Given the description of an element on the screen output the (x, y) to click on. 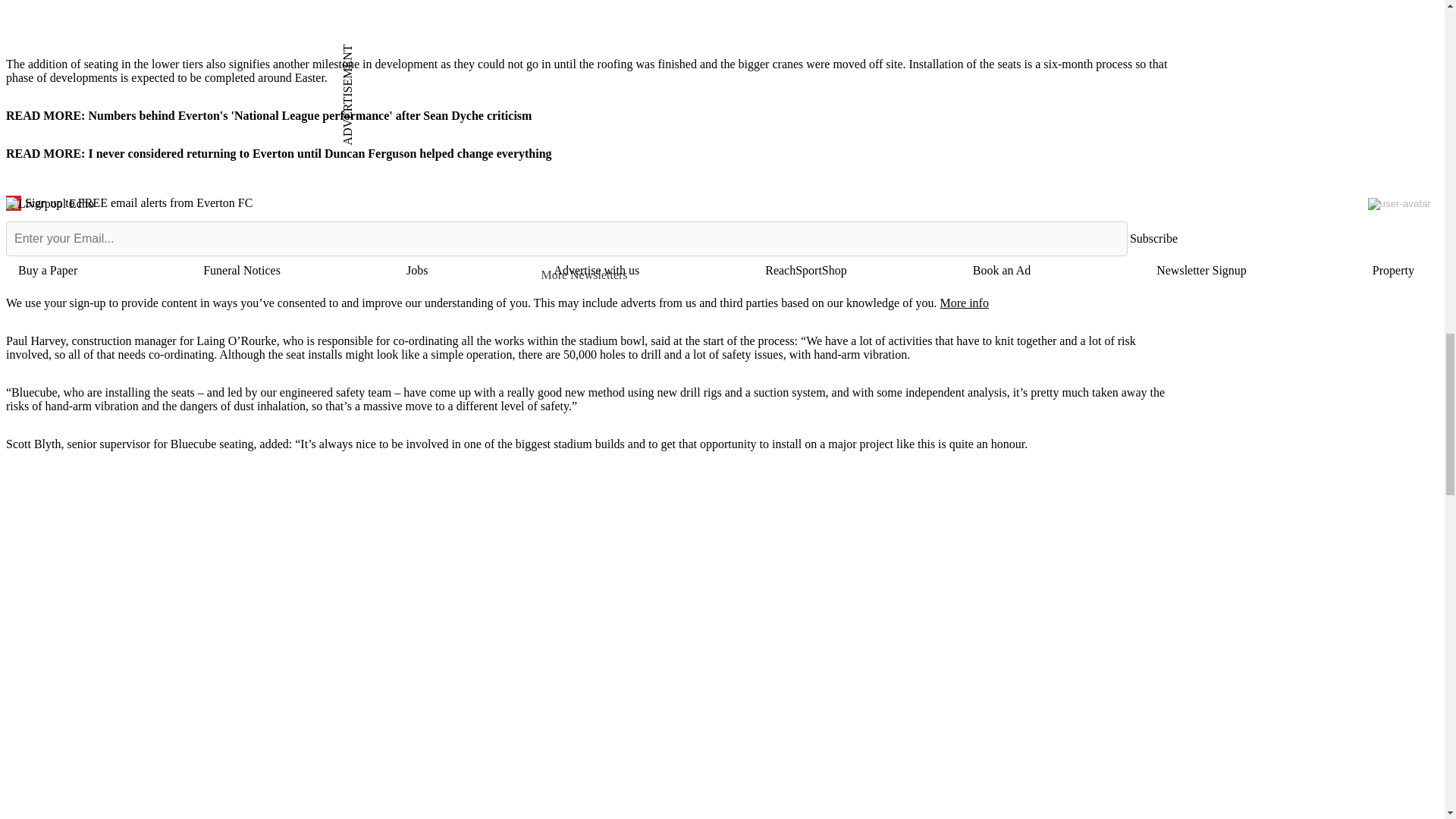
Subscribe (1153, 238)
More Newsletters (591, 274)
More info (963, 302)
